Given the description of an element on the screen output the (x, y) to click on. 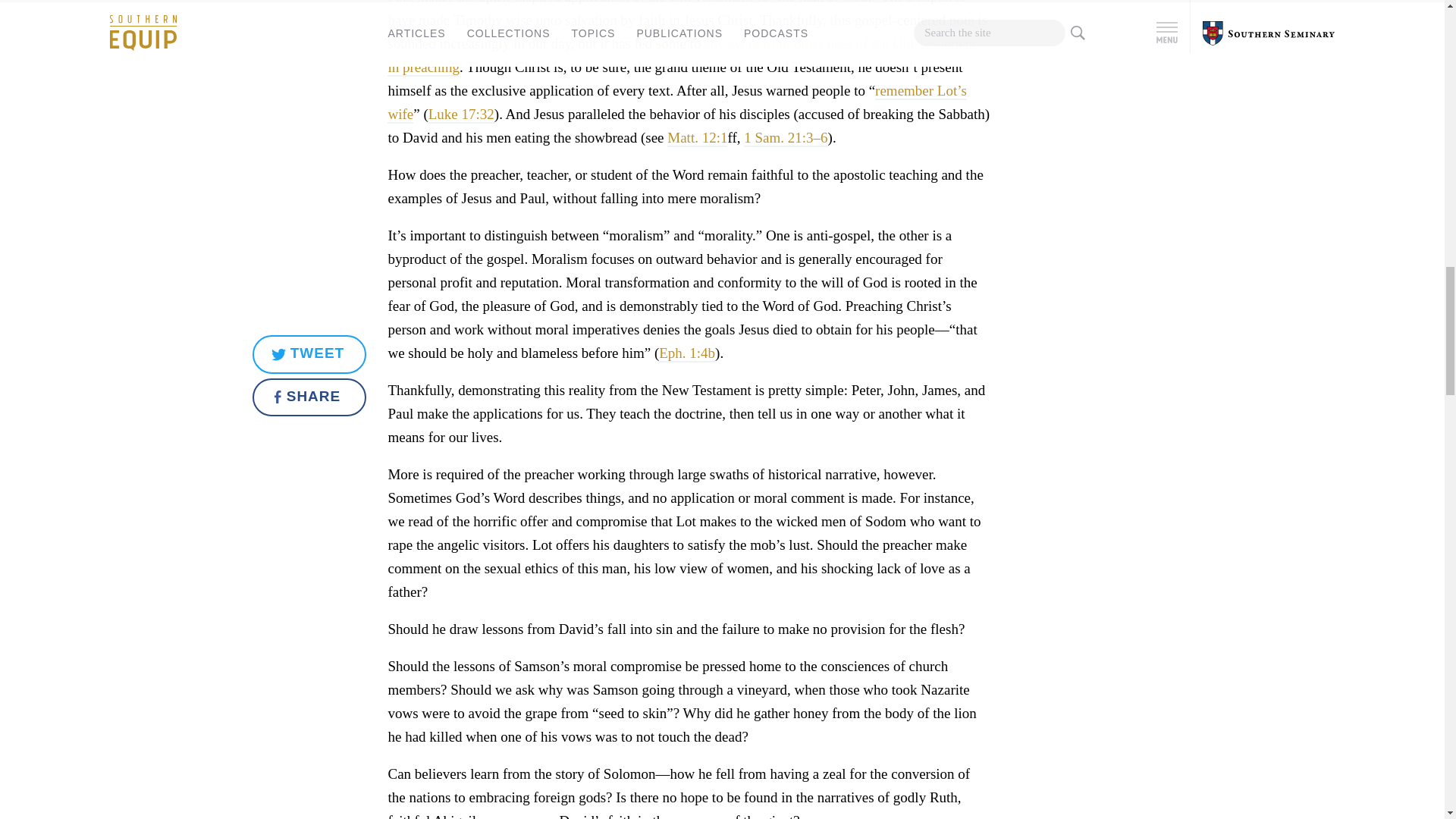
Luke 17:32 (461, 114)
Matt. 12:1 (696, 138)
Eph. 1:4b (686, 353)
shy away from other uses of the Old Testament in preaching (681, 56)
